Given the description of an element on the screen output the (x, y) to click on. 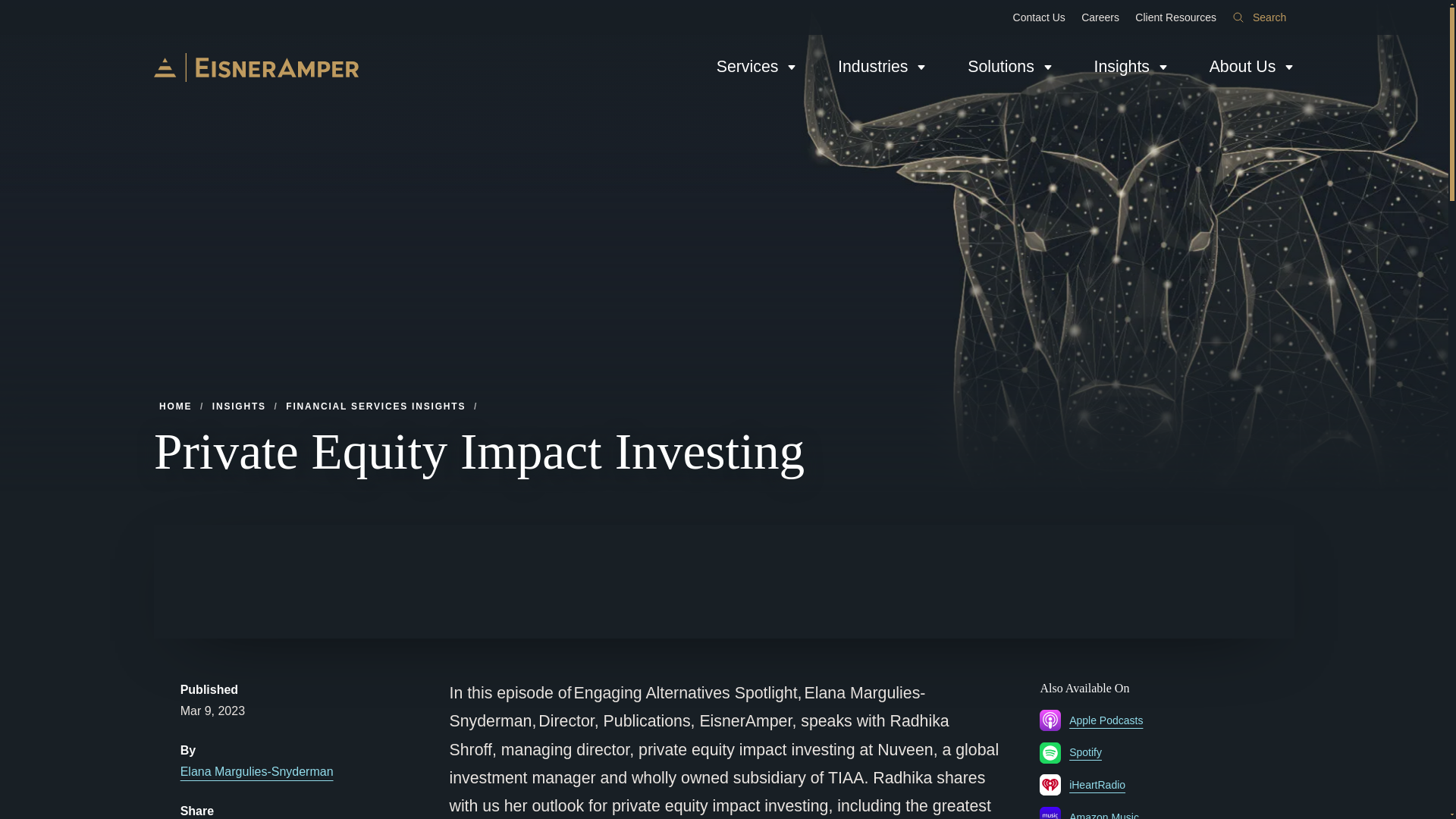
EisnerAmper Home (256, 67)
Search (1259, 17)
Client Resources (1175, 17)
Contact Us (1039, 17)
Careers (1100, 17)
Skip to content (12, 6)
